Given the description of an element on the screen output the (x, y) to click on. 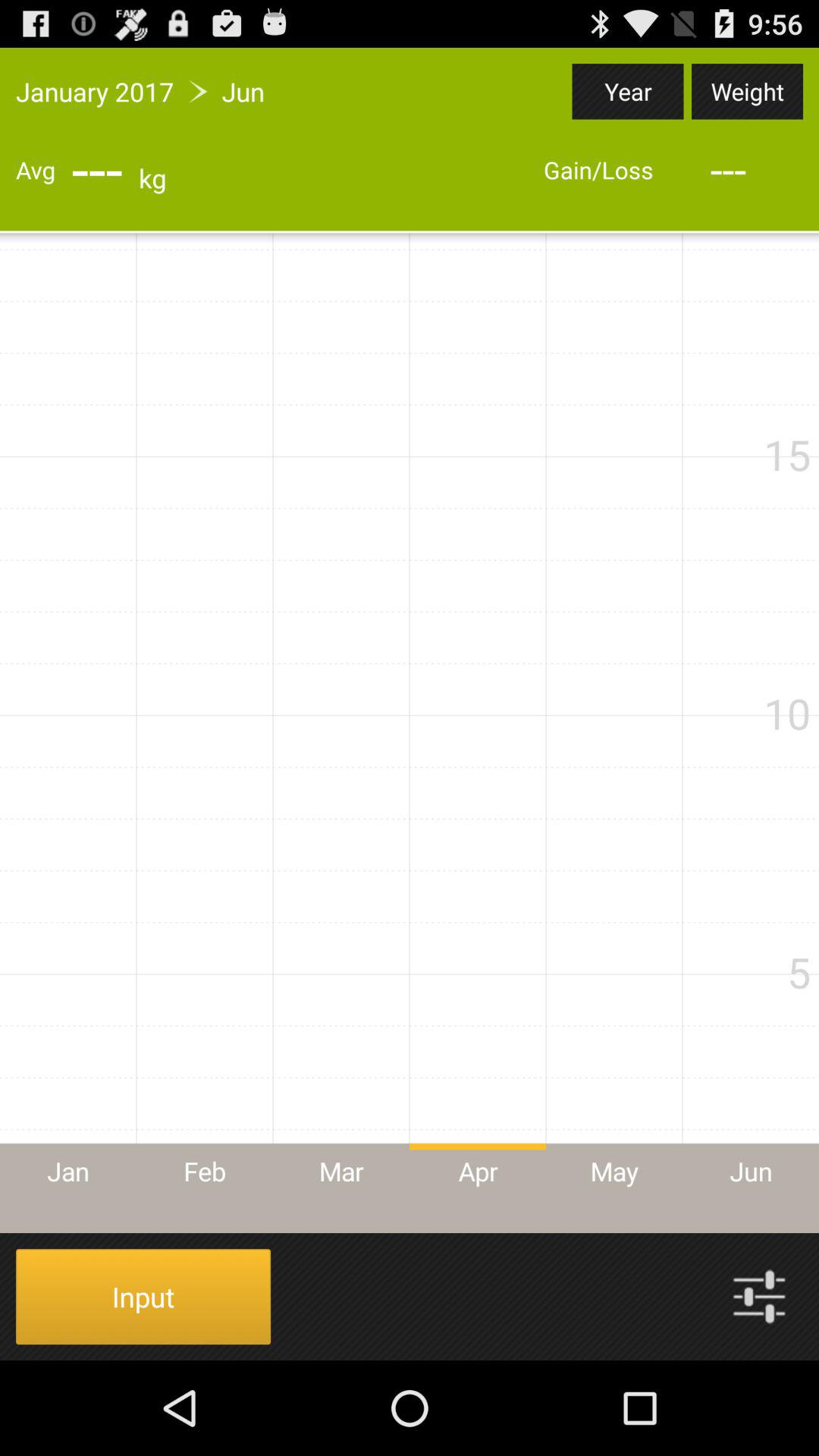
tap the app above the --- icon (627, 91)
